Given the description of an element on the screen output the (x, y) to click on. 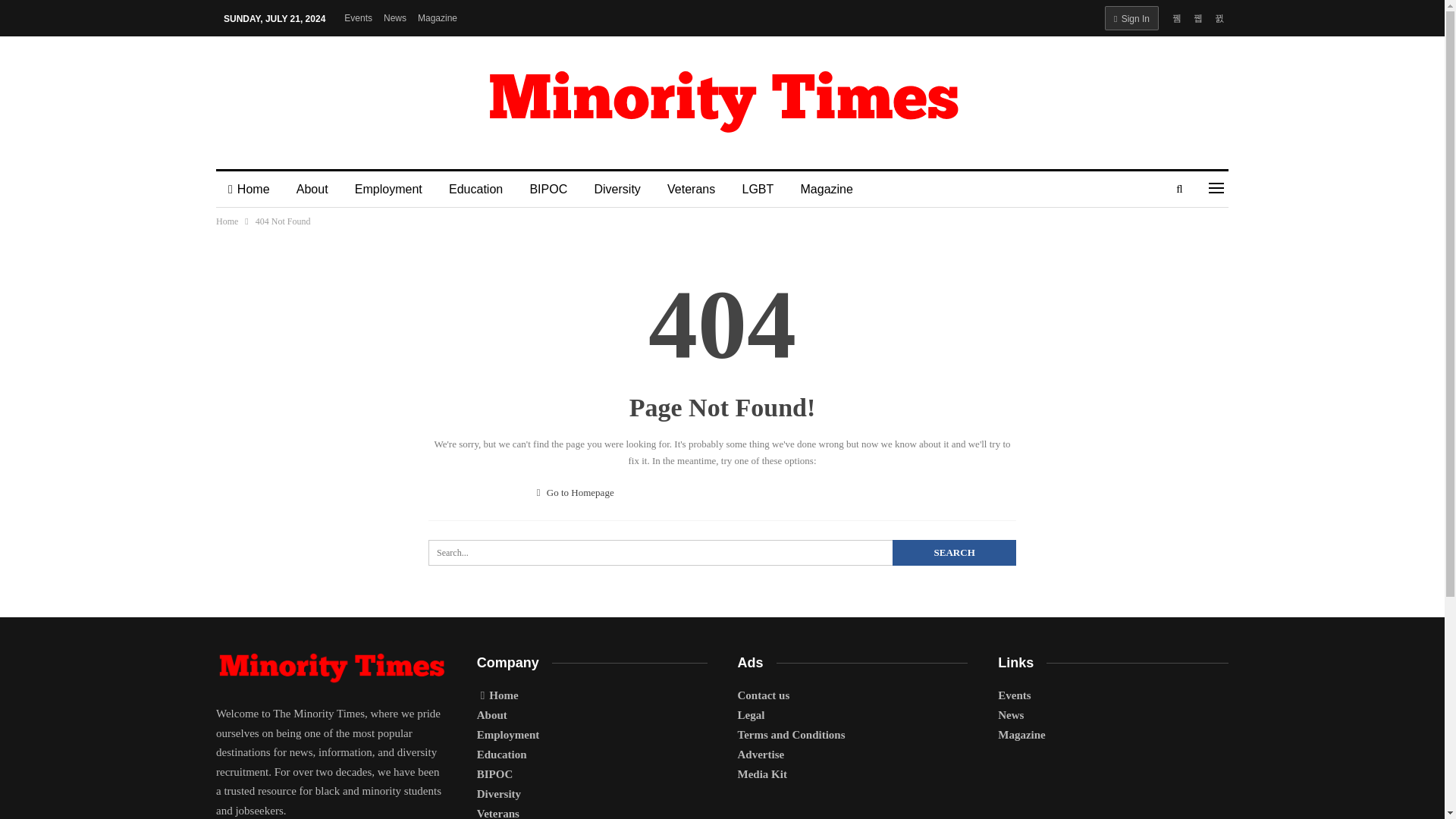
Search (954, 552)
Veterans (690, 189)
Home (226, 221)
Sign In (1131, 17)
Go to Homepage (575, 491)
Diversity (616, 189)
LGBT (757, 189)
Home (248, 189)
Magazine (826, 189)
Employment (387, 189)
Events (357, 18)
Magazine (437, 18)
Search for: (722, 552)
Education (475, 189)
Search (954, 552)
